Given the description of an element on the screen output the (x, y) to click on. 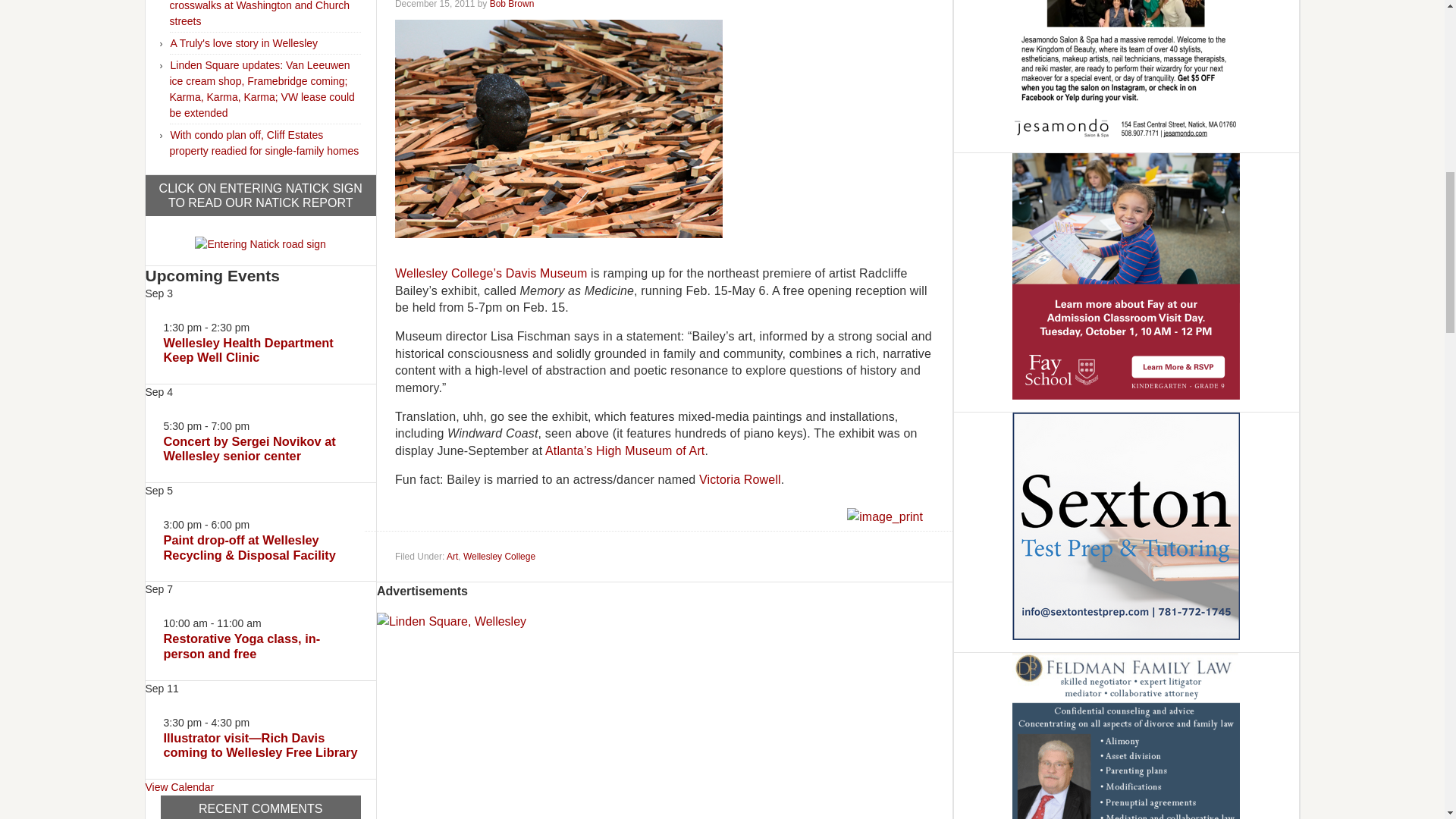
Art (452, 556)
Wellesley College (499, 556)
Windward Coast (558, 128)
A Truly's love story in Wellesley (243, 42)
Wellesley Health Department Keep Well Clinic (248, 348)
Victoria Rowell (739, 479)
Restorative Yoga class, in-person and free (241, 645)
Bob Brown (511, 4)
View more events. (179, 787)
